Given the description of an element on the screen output the (x, y) to click on. 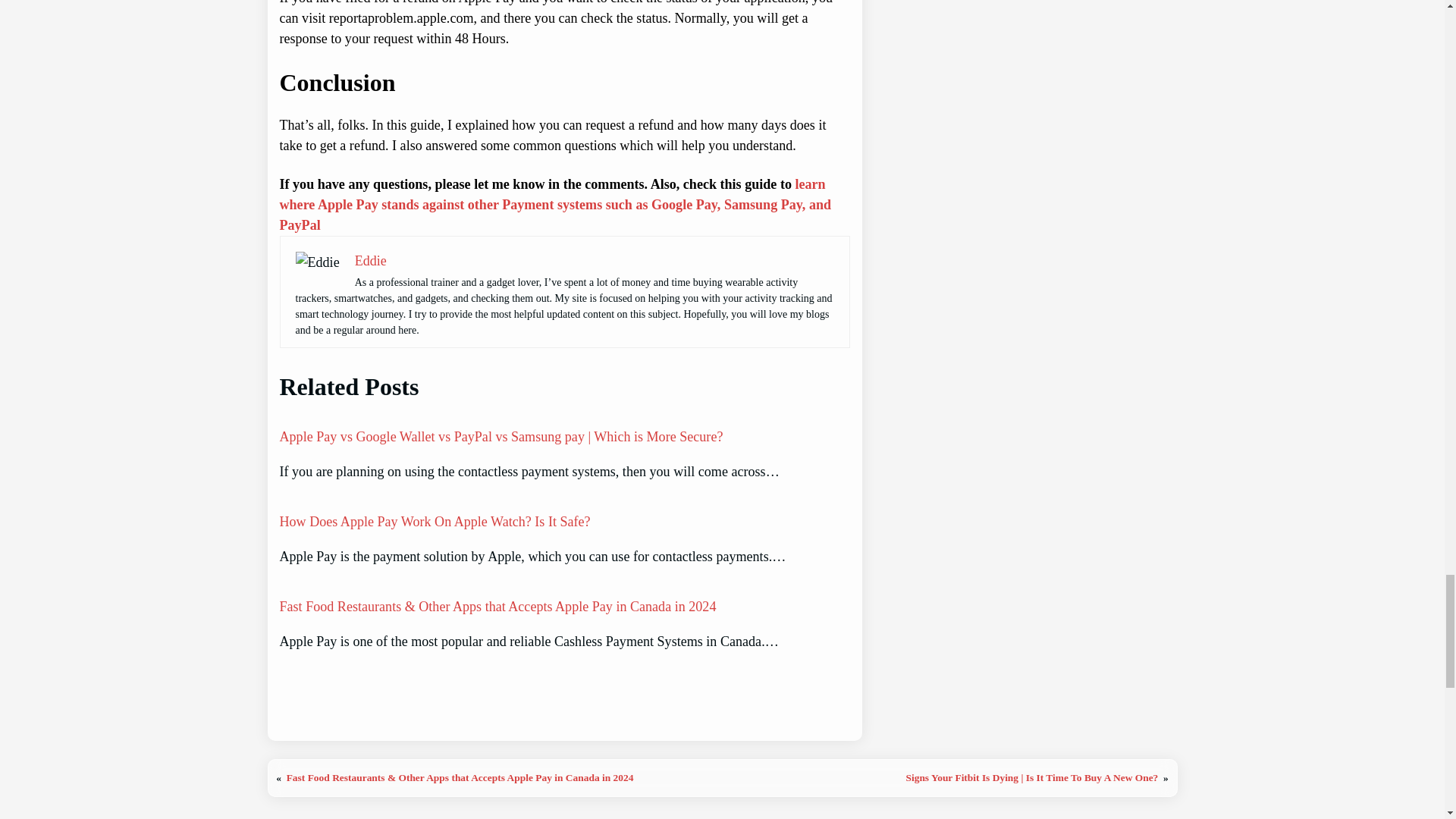
How Does Apple Pay Work On Apple Watch? Is It Safe? (434, 521)
Eddie (371, 260)
